Given the description of an element on the screen output the (x, y) to click on. 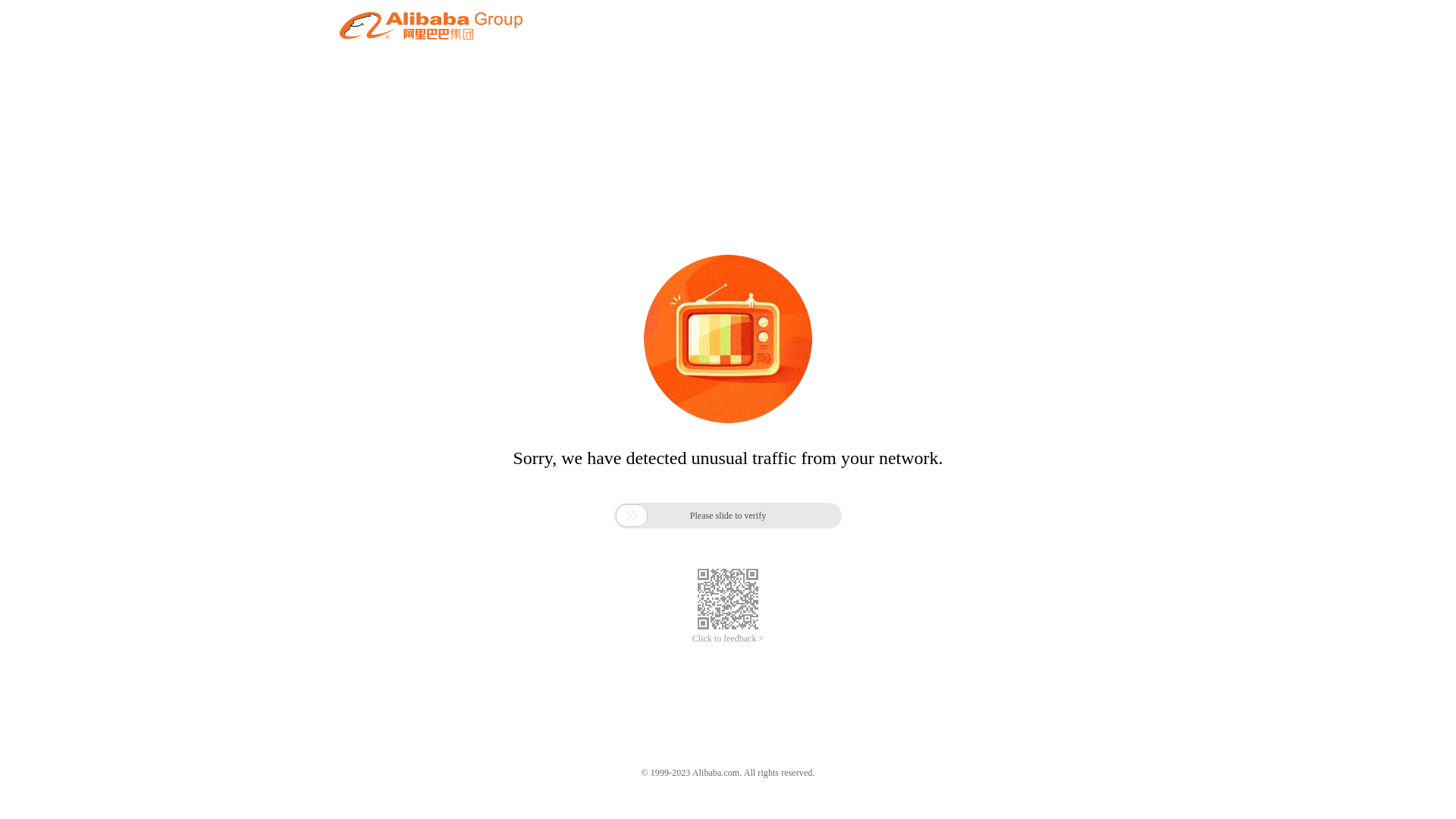
Click to feedback > Element type: text (727, 638)
